Given the description of an element on the screen output the (x, y) to click on. 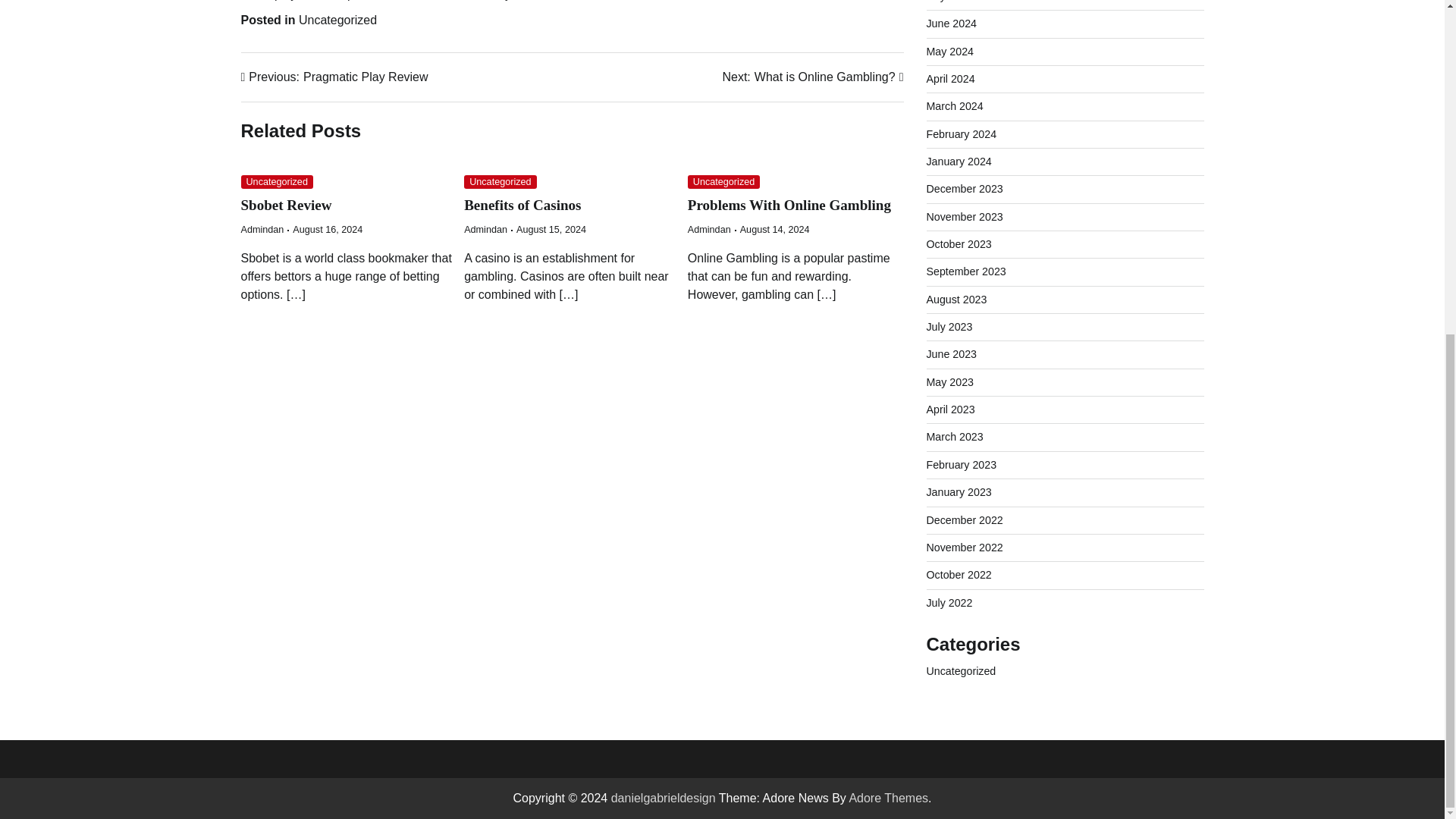
Uncategorized (723, 182)
Problems With Online Gambling (789, 204)
Uncategorized (812, 76)
Admindan (499, 182)
March 2024 (262, 229)
December 2023 (955, 105)
Uncategorized (964, 188)
June 2024 (337, 19)
February 2024 (951, 23)
